Given the description of an element on the screen output the (x, y) to click on. 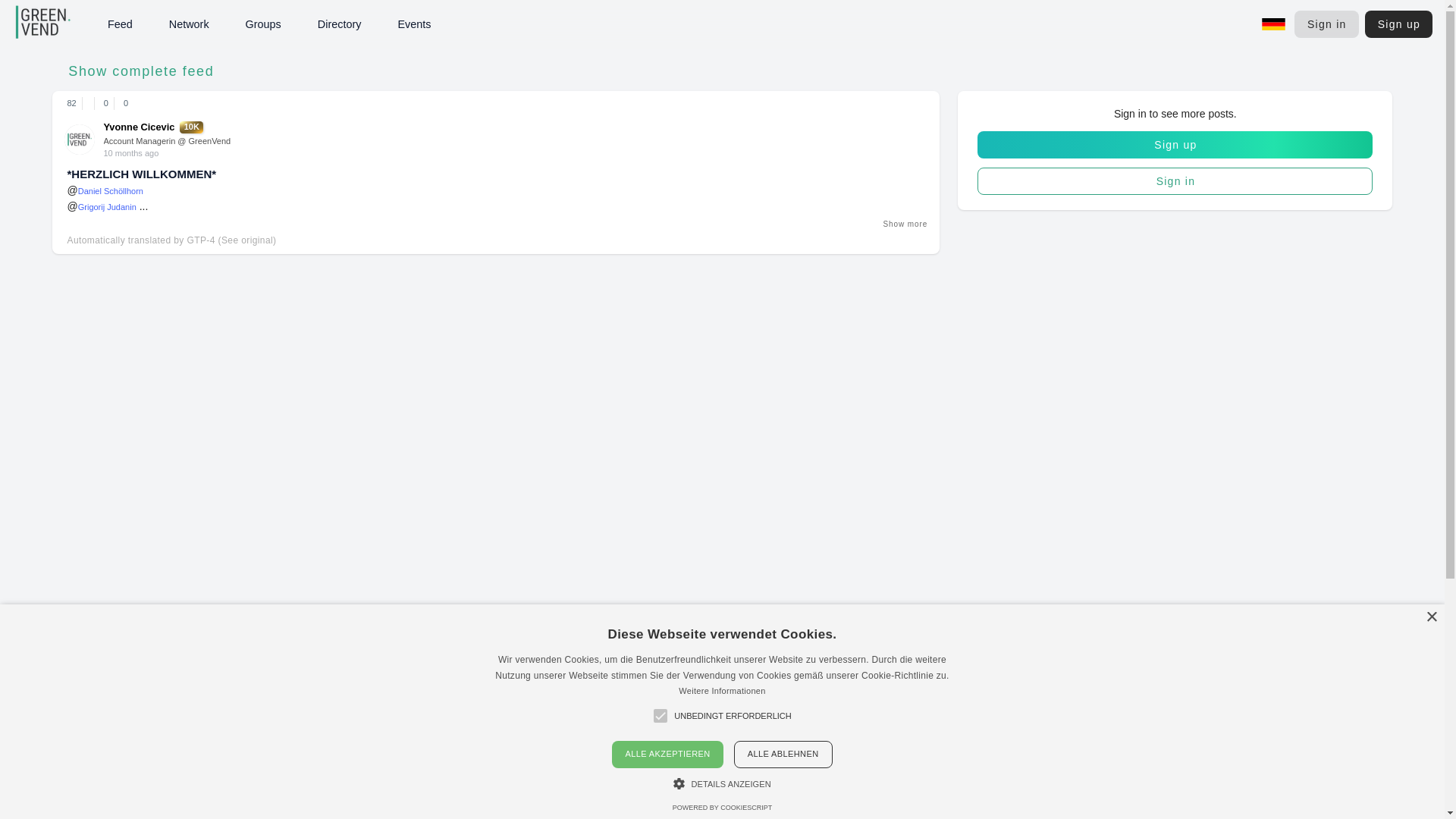
GreenVend Logo (63, 24)
Sign up (1398, 23)
Groups (299, 24)
Directory (375, 24)
Events (448, 24)
Feed (155, 24)
Show more (904, 224)
 Show complete feed (136, 70)
04.10.2023 - 13:21 (130, 153)
german language flag (1273, 24)
